Given the description of an element on the screen output the (x, y) to click on. 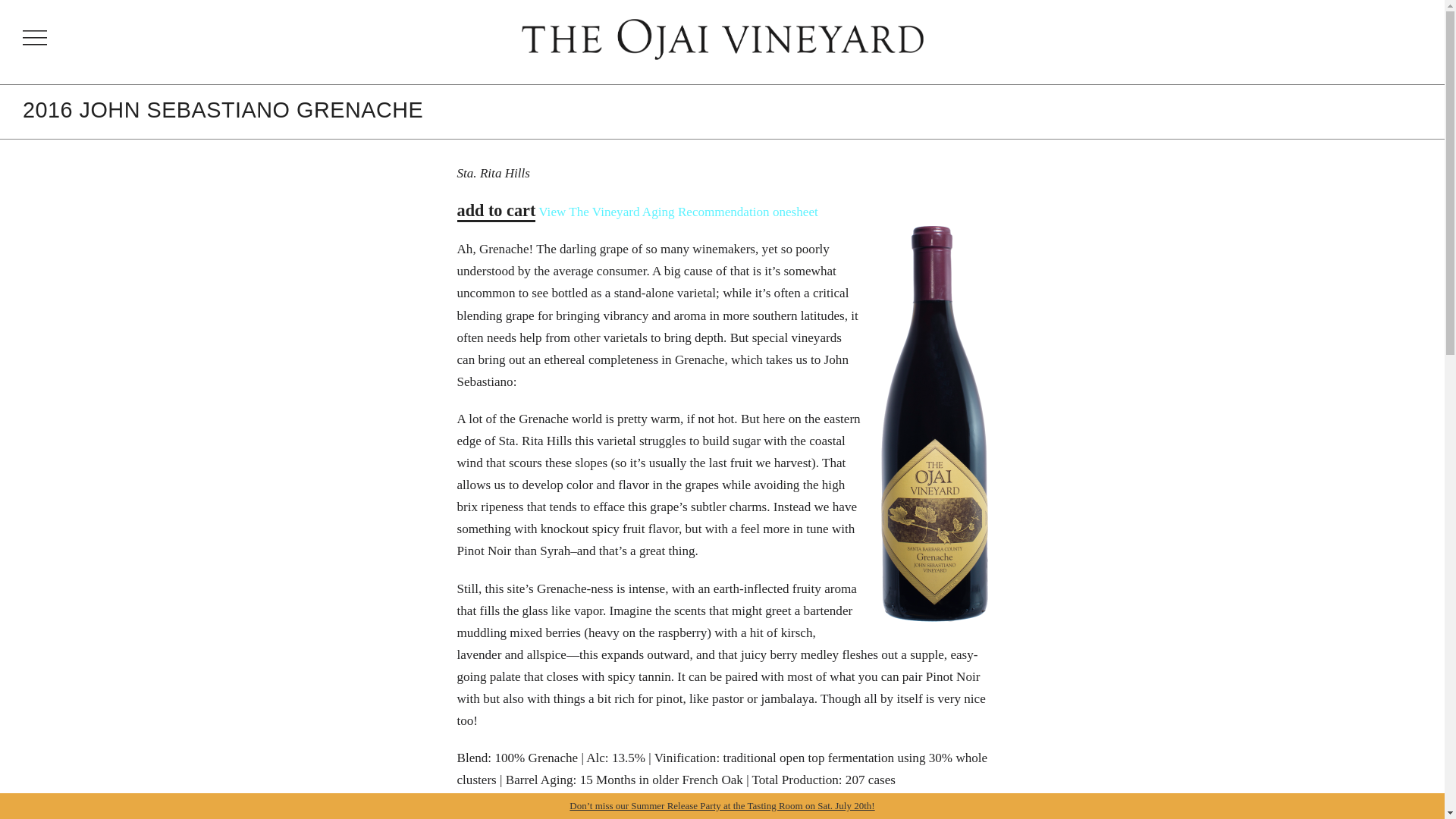
View The Vineyard (588, 211)
Aging Recommendation (706, 211)
onesheet (795, 211)
add to cart (496, 210)
